Given the description of an element on the screen output the (x, y) to click on. 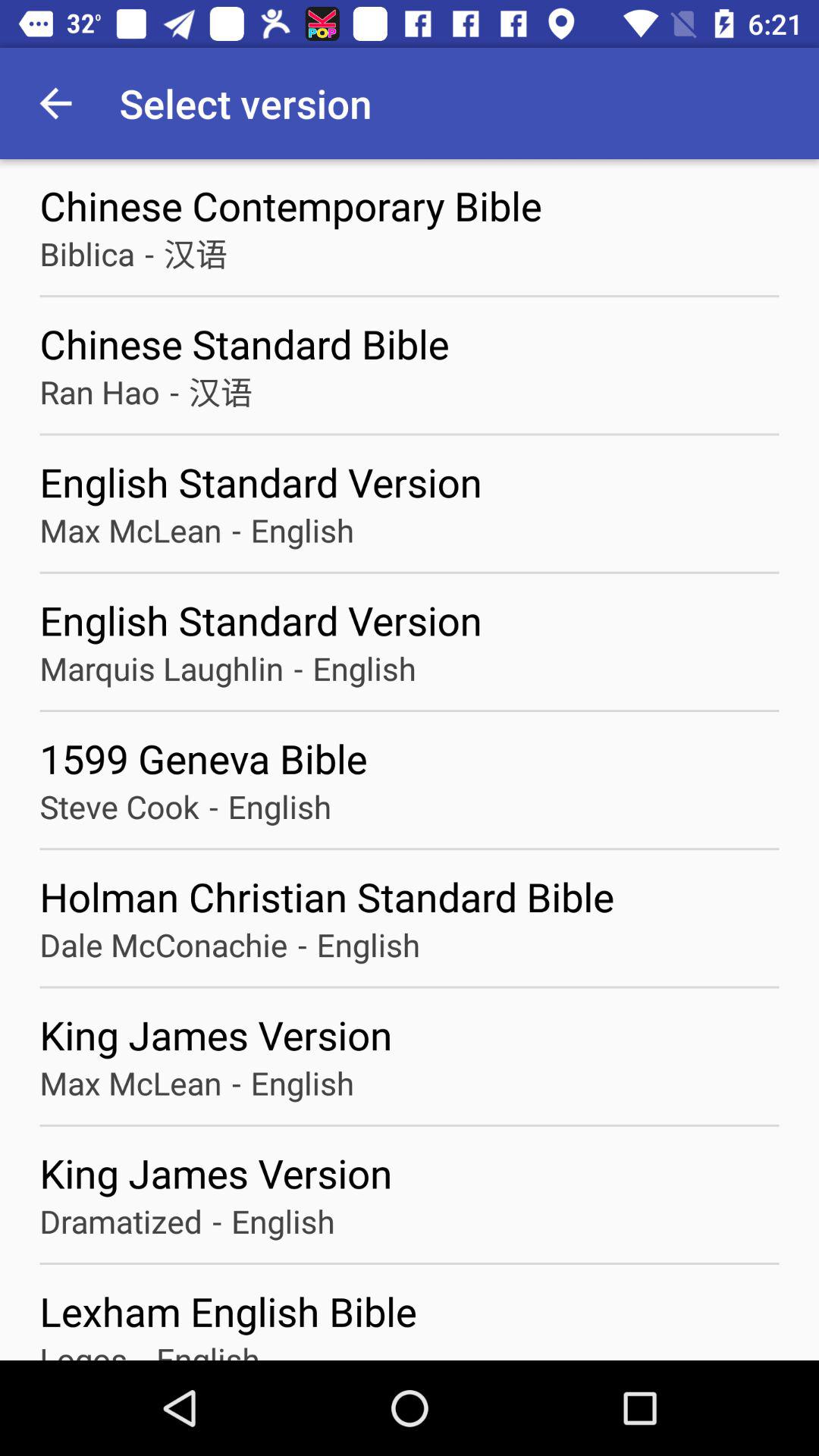
launch the item above the king james version icon (163, 944)
